Given the description of an element on the screen output the (x, y) to click on. 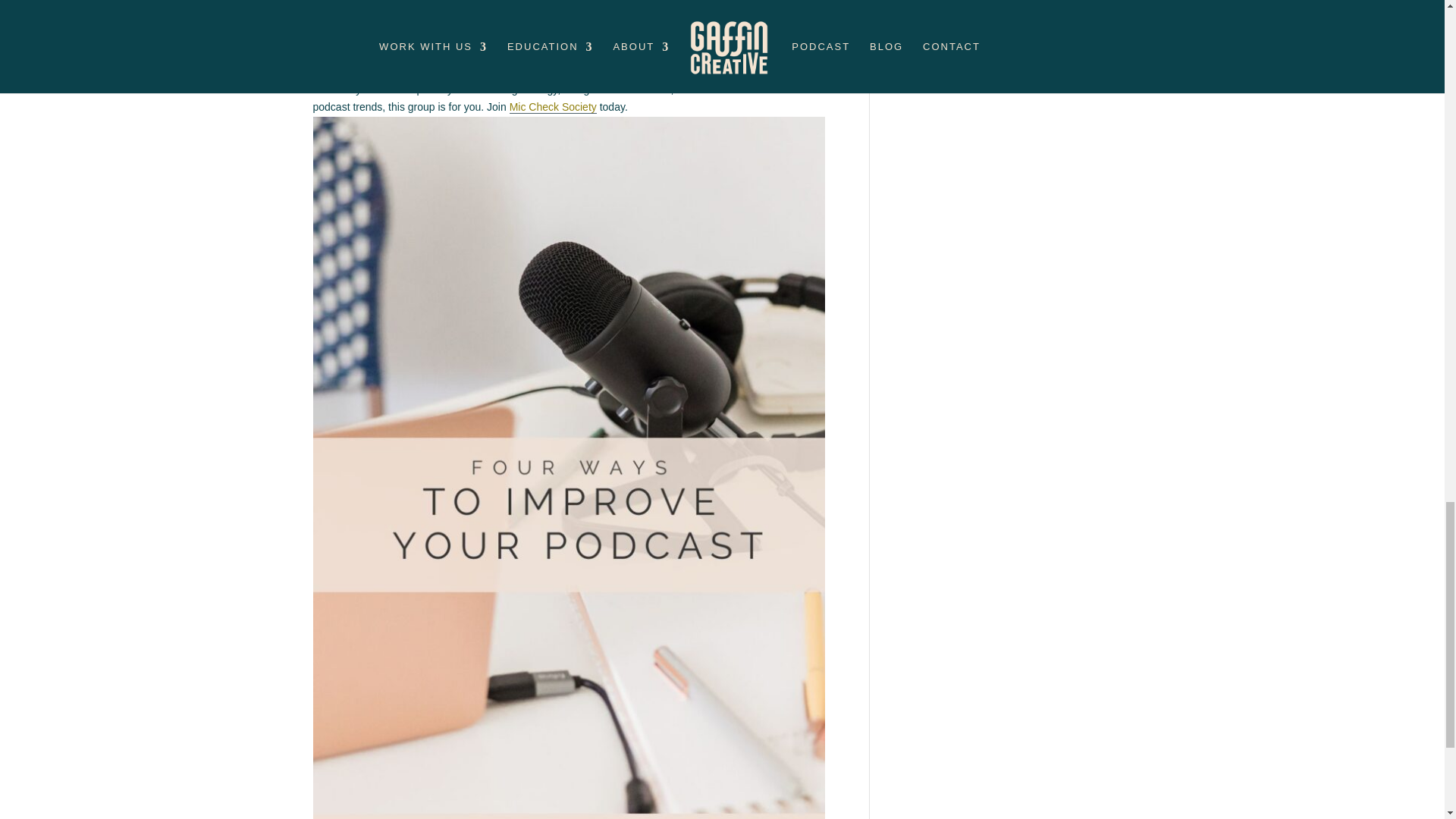
Mic Check Society (552, 106)
